Given the description of an element on the screen output the (x, y) to click on. 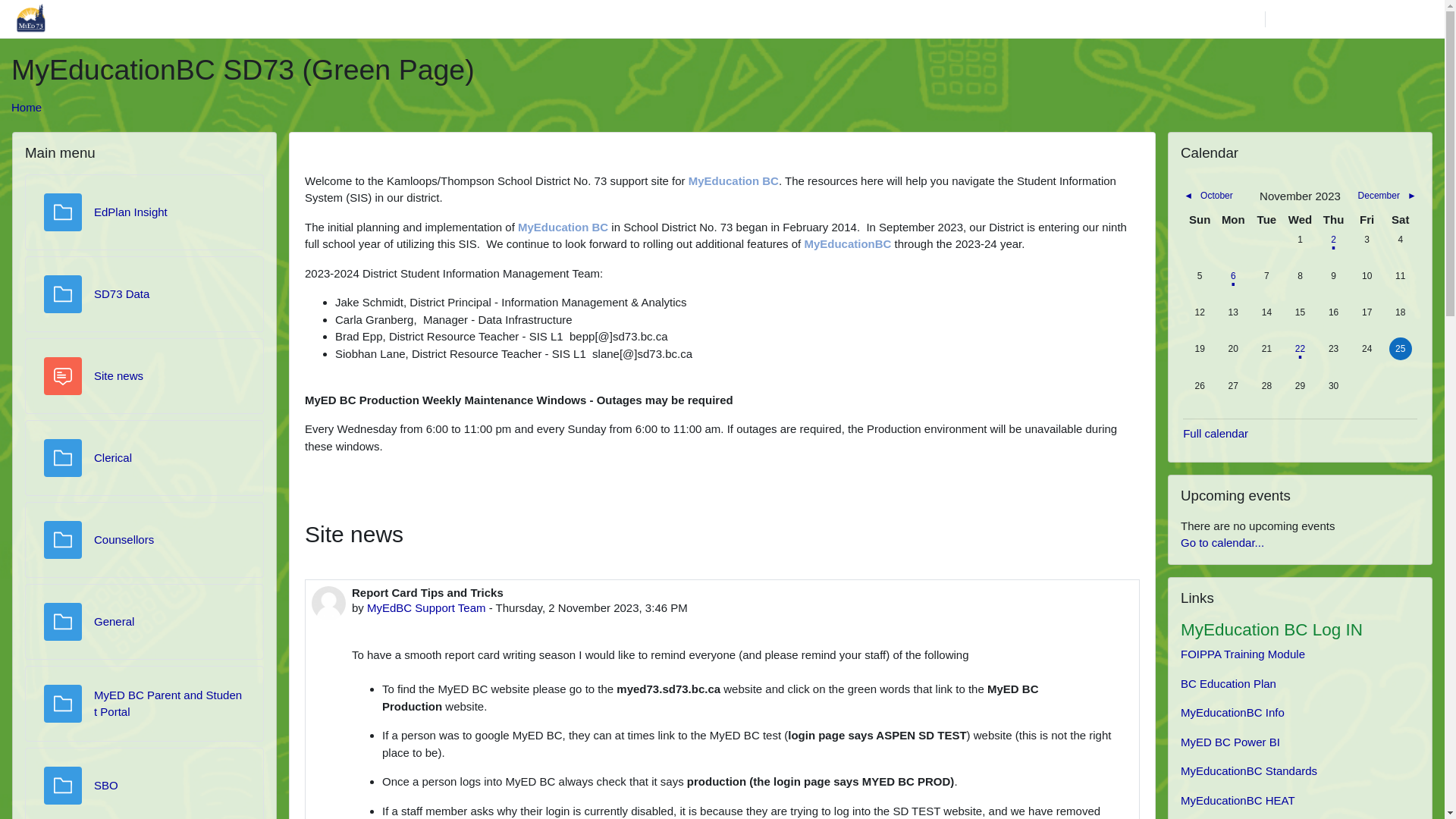
Skip Links Element type: text (1167, 576)
MyED BC Power BI Element type: text (1230, 741)
Home Element type: text (26, 106)
MyEducationBC HEAT Element type: text (1237, 799)
22 Element type: text (1299, 348)
General
Folder Element type: text (114, 621)
MyEdBC Support Team Element type: text (426, 606)
6 Element type: text (1232, 275)
FOIPPA Training Module Element type: text (1242, 653)
SD73 Data
Folder Element type: text (121, 293)
Picture of MyEdBC Support Team Element type: hover (328, 602)
Go to calendar... Element type: text (1222, 542)
BC Education Plan Element type: text (1228, 683)
Counsellors
Folder Element type: text (123, 539)
Site news
Forum Element type: text (118, 375)
SBO
Folder Element type: text (106, 784)
MyED BC Parent and Student Portal
Folder Element type: text (167, 703)
Full calendar Element type: text (1215, 432)
Clerical
Folder Element type: text (112, 457)
Skip Main menu Element type: text (11, 130)
MyEducation BC Log IN Element type: text (1271, 629)
MyEducationBC Standards Element type: text (1248, 770)
MyEducationBC Info Element type: text (1232, 712)
EdPlan Insight
Folder Element type: text (130, 211)
Skip Calendar Element type: text (1167, 130)
Skip Upcoming events Element type: text (1167, 473)
2 Element type: text (1333, 239)
